Given the description of an element on the screen output the (x, y) to click on. 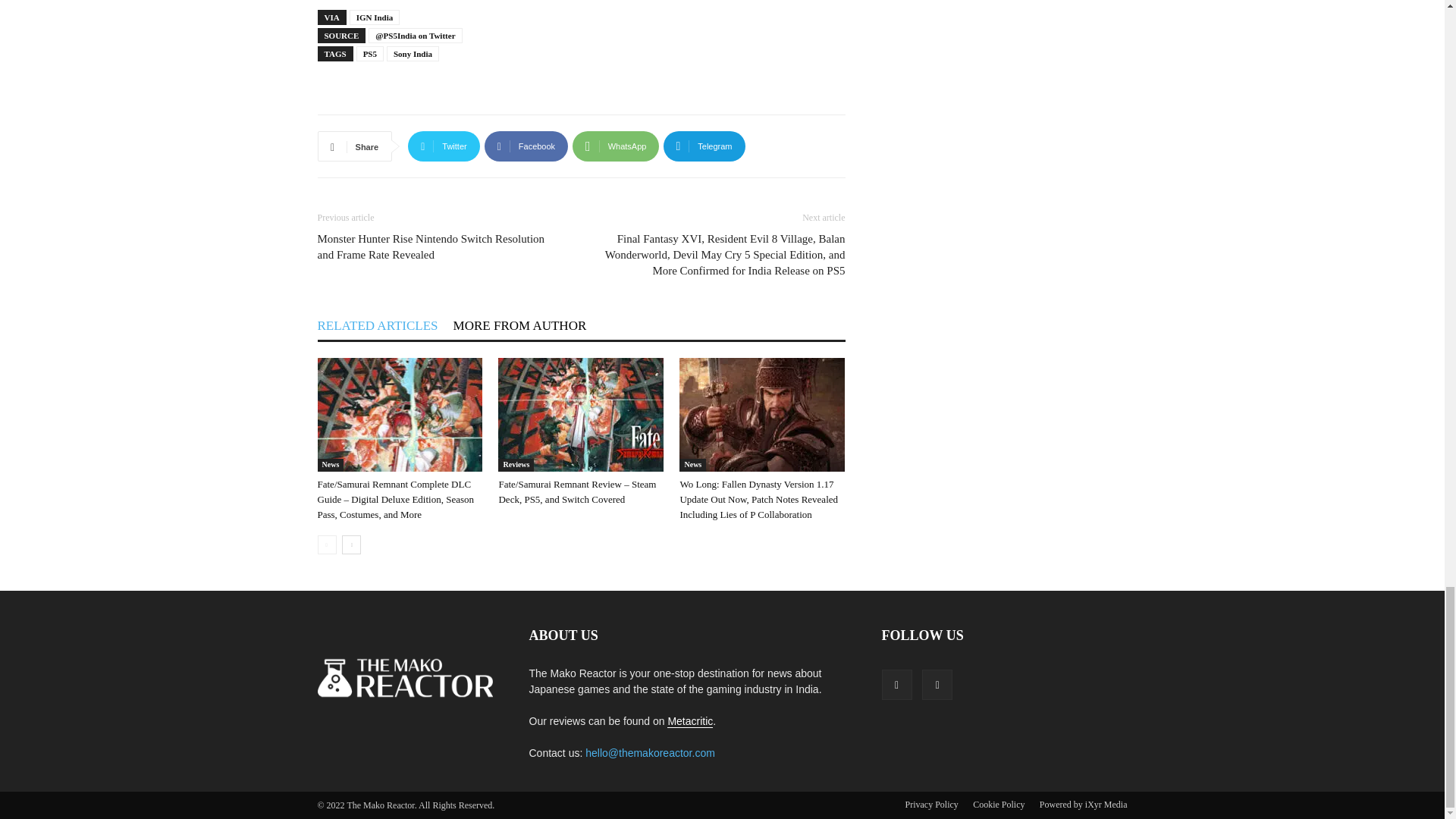
Facebook (525, 146)
WhatsApp (615, 146)
Telegram (703, 146)
Twitter (443, 146)
